Given the description of an element on the screen output the (x, y) to click on. 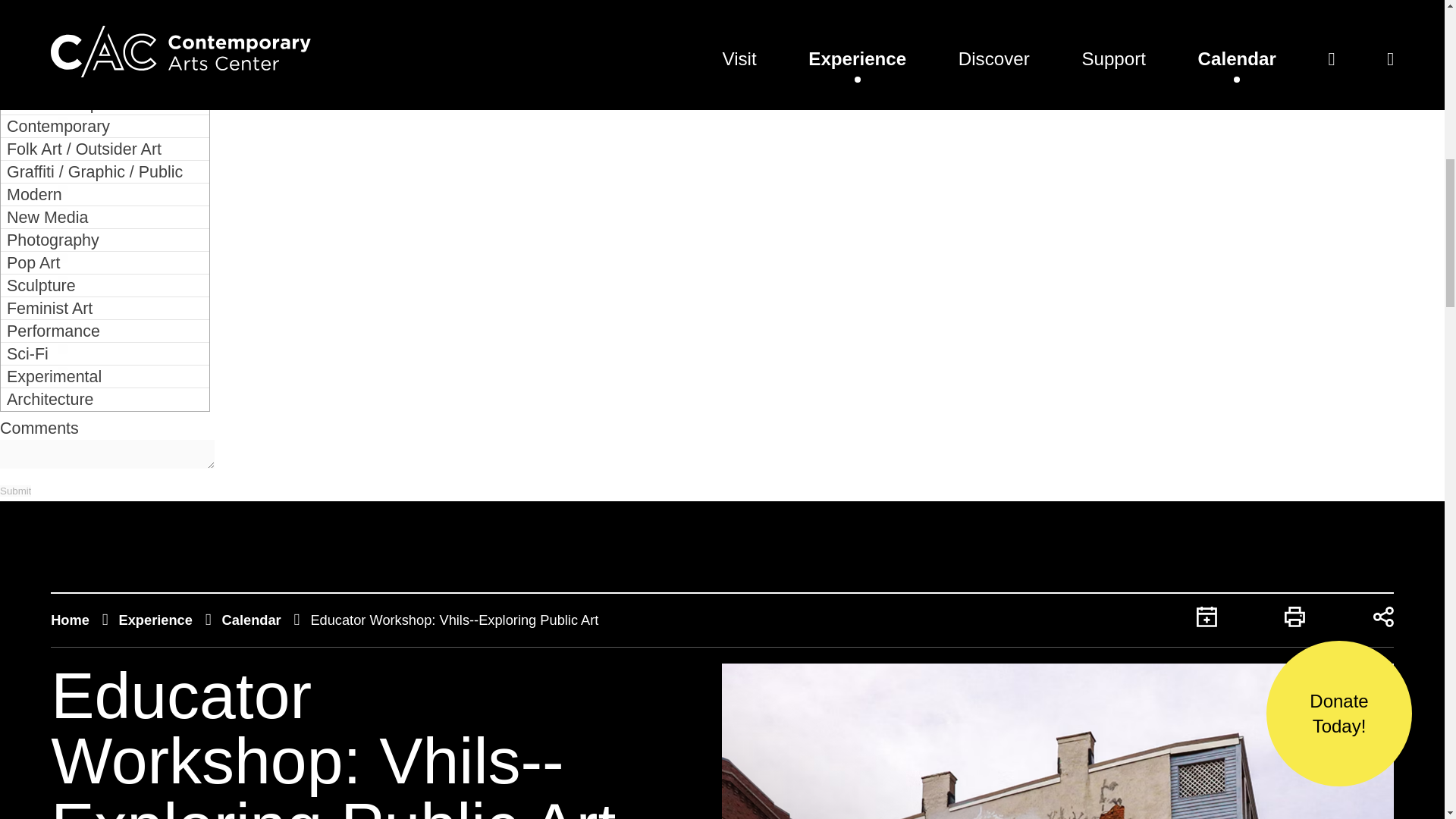
Calendar (251, 619)
Contemporary (105, 126)
19523 (81, 2)
Experimental (105, 376)
19528 (81, 166)
Experience (155, 619)
954370 (81, 22)
19526 (81, 121)
Sci-Fi (105, 354)
New Media (105, 217)
